Given the description of an element on the screen output the (x, y) to click on. 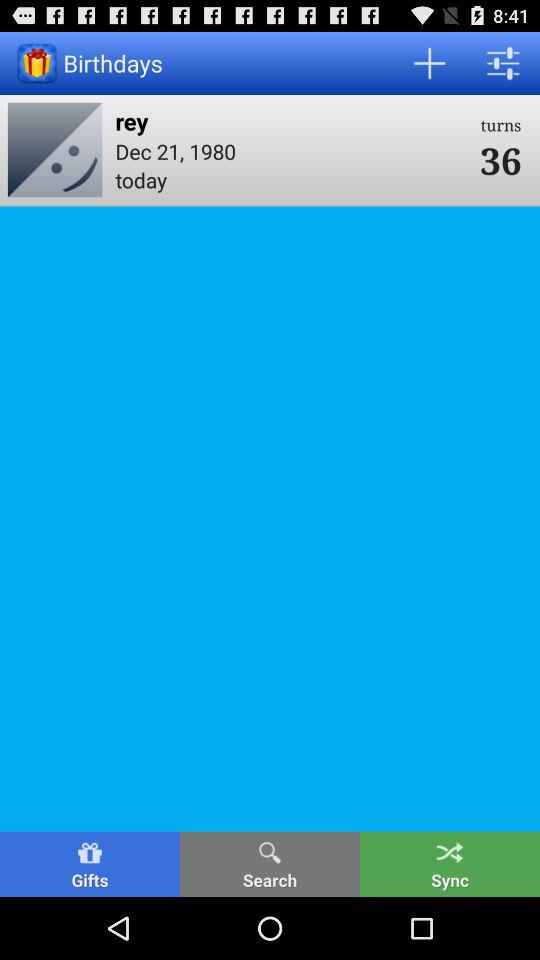
select icon to the right of gifts (270, 863)
